Given the description of an element on the screen output the (x, y) to click on. 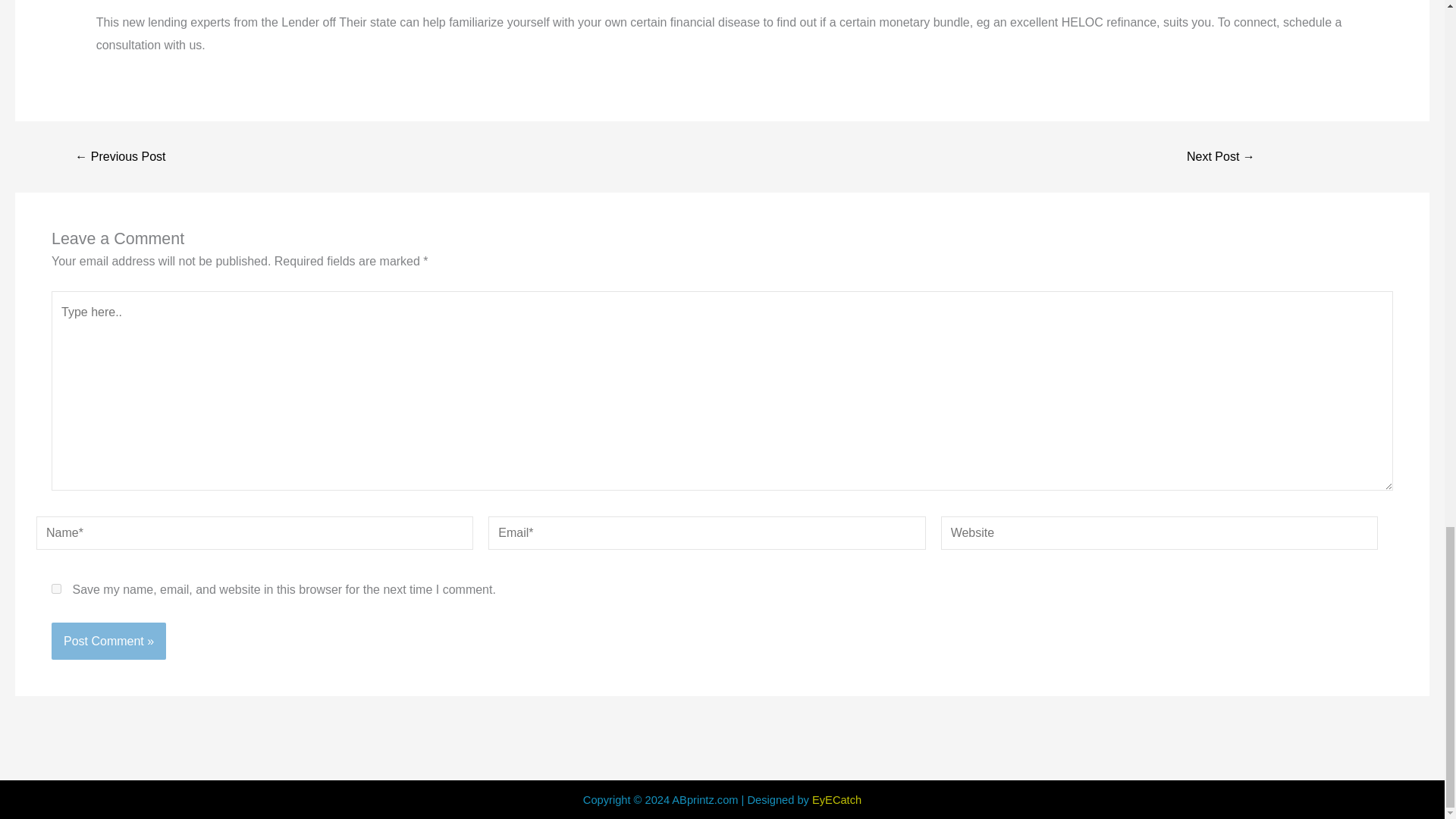
yes (55, 588)
